Given the description of an element on the screen output the (x, y) to click on. 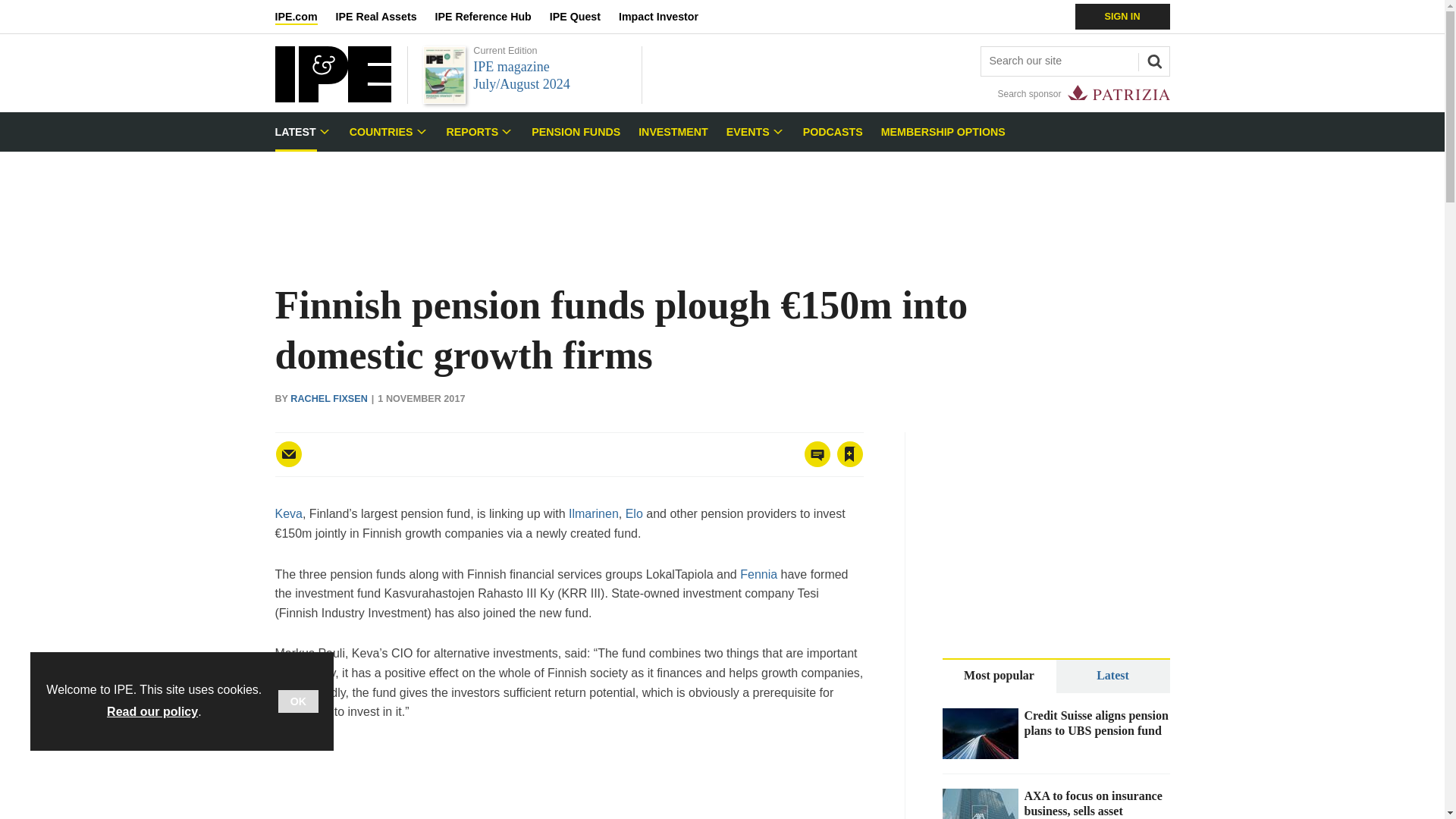
IPE Quest (583, 16)
3rd party ad content (568, 780)
IPE Real Assets (384, 16)
3rd party ad content (721, 201)
Impact Investor (667, 16)
Email this article (288, 452)
IPE Reference Hub (491, 16)
Read our policy (152, 711)
IPE (332, 97)
SEARCH (1152, 59)
